Given the description of an element on the screen output the (x, y) to click on. 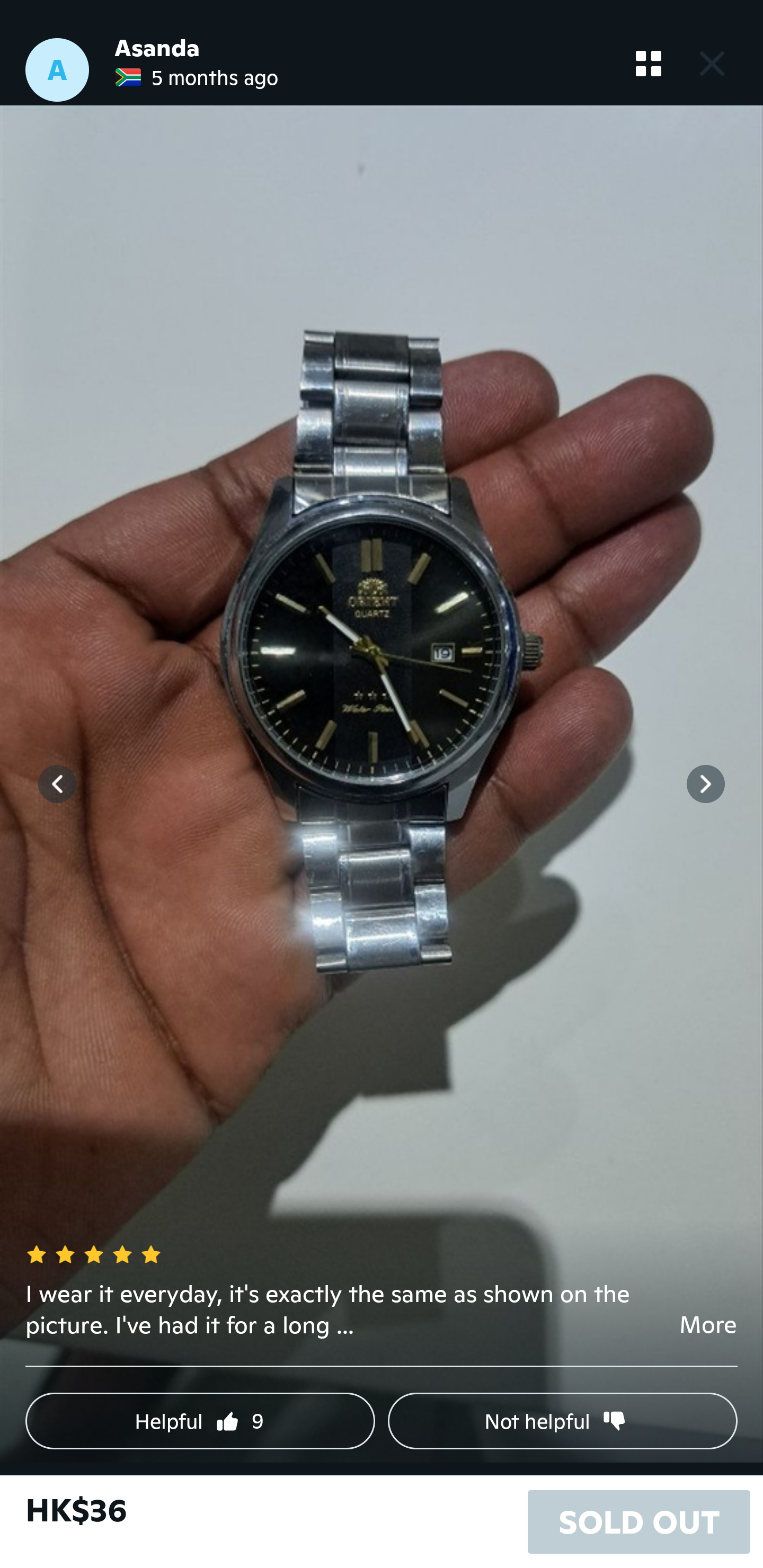
Asanda (156, 47)
A (57, 69)
5 months ago (196, 77)
Helpful 9 (200, 1420)
Not helpful (562, 1420)
